Given the description of an element on the screen output the (x, y) to click on. 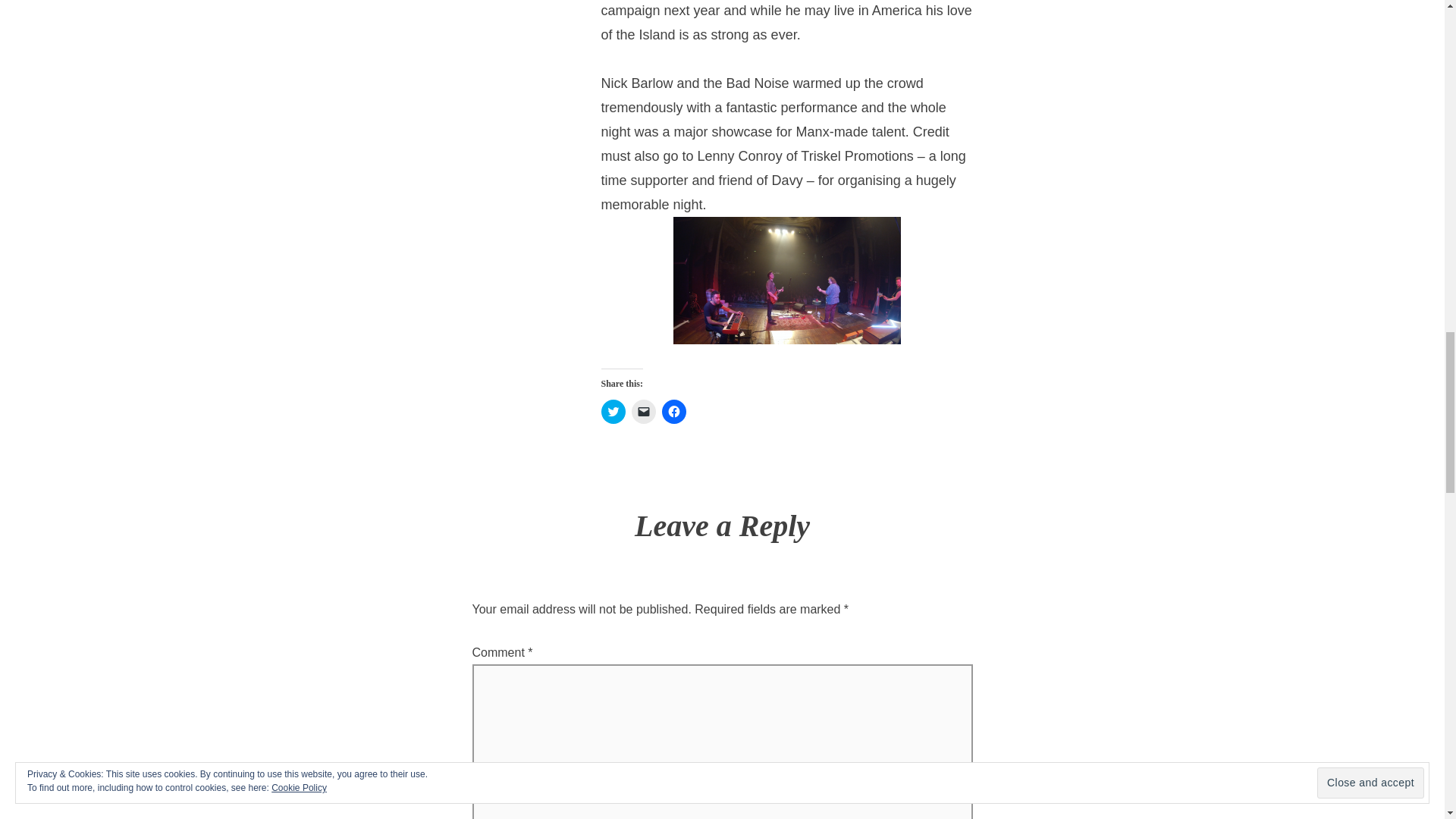
Click to email a link to a friend (642, 411)
Click to share on Twitter (611, 411)
Click to share on Facebook (673, 411)
